Given the description of an element on the screen output the (x, y) to click on. 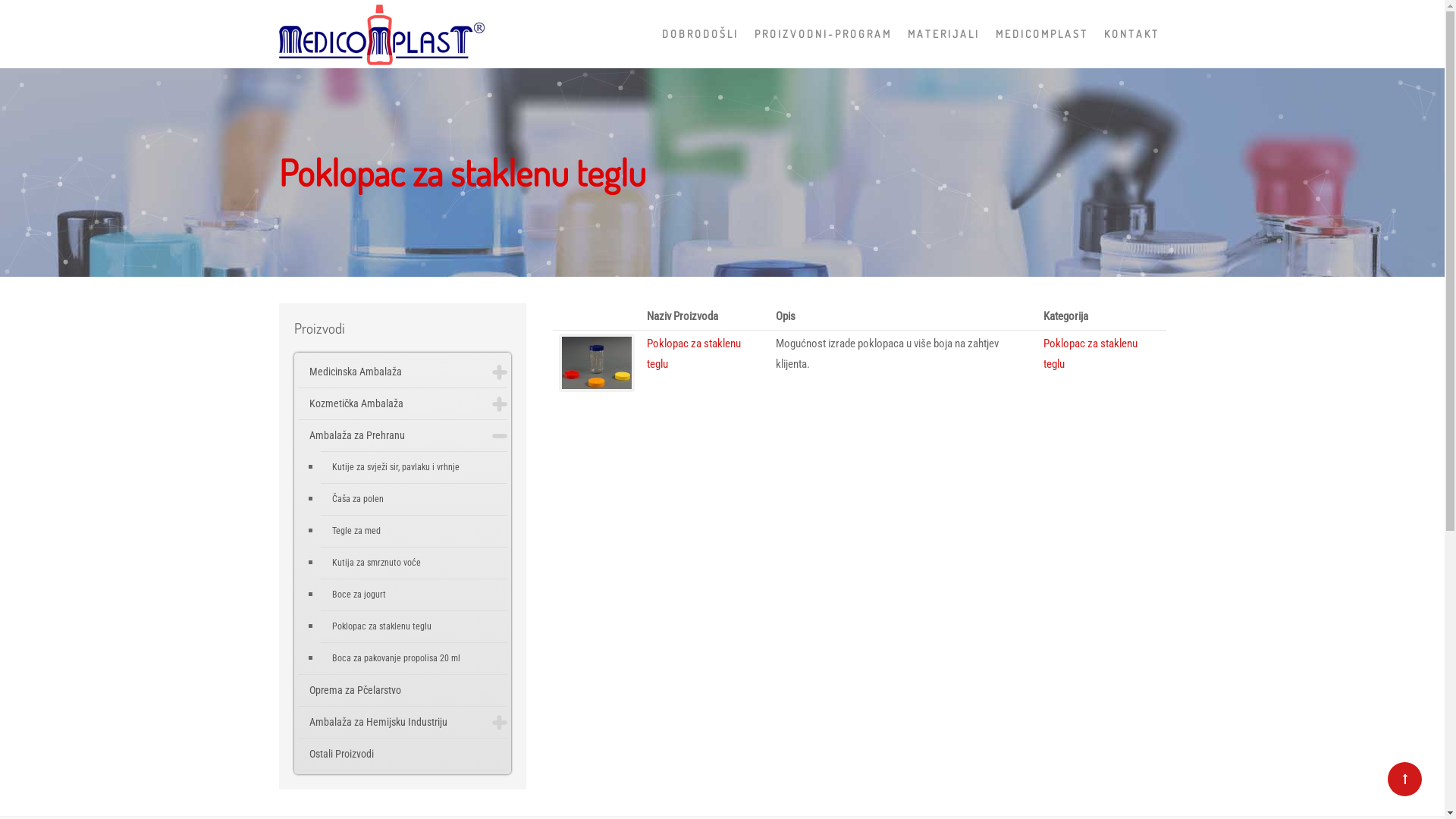
Boce za jogurt Element type: text (413, 594)
P R O I Z V O D N I - P R O G R A M Element type: text (820, 34)
JIB Element type: text (741, 504)
PDV Broj Element type: text (752, 537)
Boca za pakovanje propolisa 20 ml Element type: text (413, 658)
Poklopac za staklenu teglu Element type: text (693, 353)
Medicomplast Element type: hover (381, 30)
Ostali Proizvodi Element type: text (402, 753)
M A T E R I J A L I Element type: text (941, 34)
Tegle za med Element type: text (413, 530)
M E D I C O M P L A S T Element type: text (1039, 34)
Poklopac za staklenu teglu Element type: text (1090, 353)
K O N T A K T Element type: text (1130, 34)
Poklopac za staklenu teglu Element type: text (413, 626)
